Given the description of an element on the screen output the (x, y) to click on. 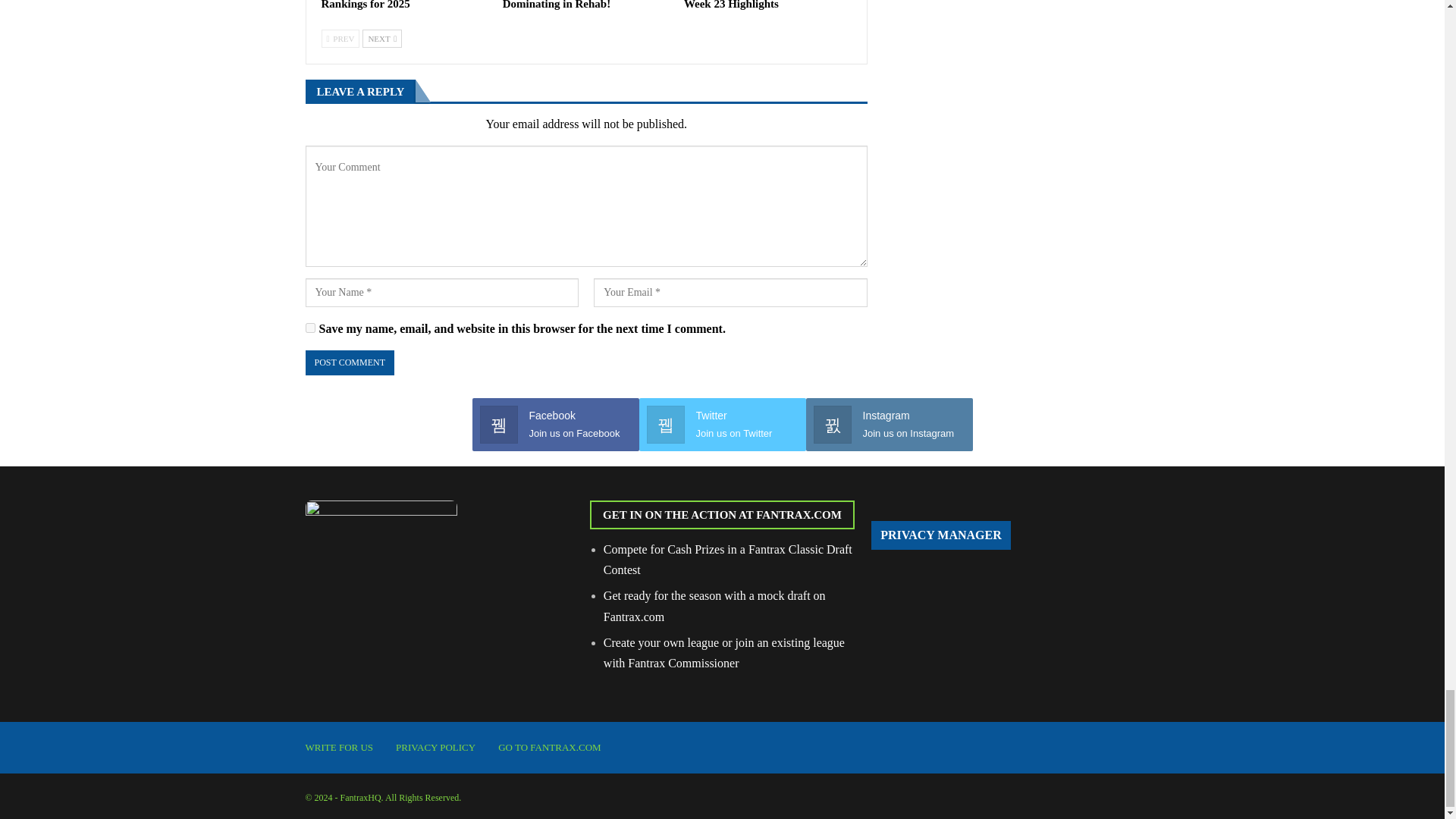
Top 500 Fantasy Baseball Dynasty Rankings for 2025 (404, 4)
Post Comment (348, 362)
yes (309, 327)
MLB Injury Report: deGrom Dominating in Rehab! (574, 4)
